Given the description of an element on the screen output the (x, y) to click on. 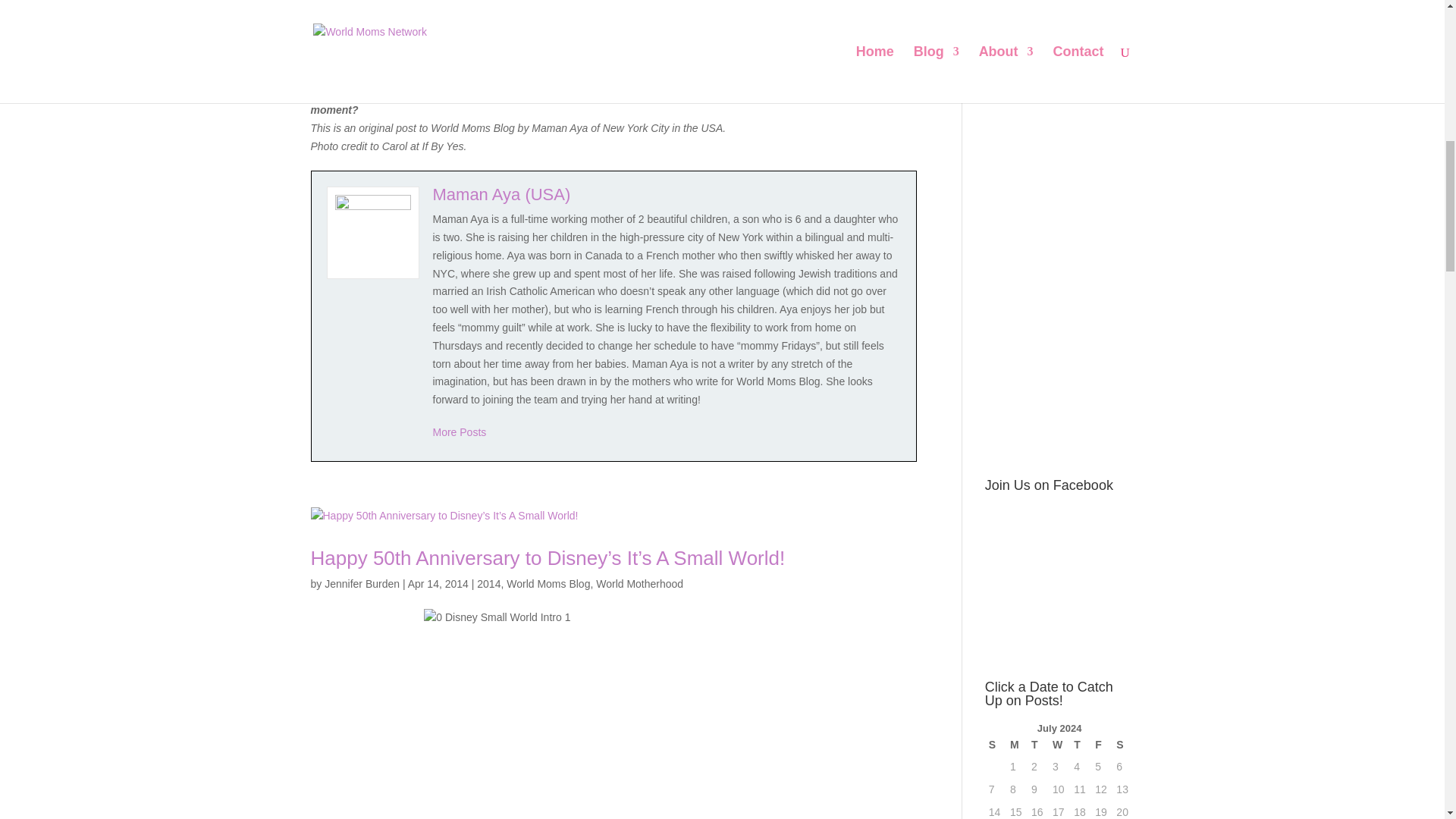
World Motherhood (638, 583)
More Posts (459, 431)
2014 (488, 583)
Jennifer Burden (361, 583)
World Moms Blog (547, 583)
Posts by Jennifer Burden (361, 583)
